Given the description of an element on the screen output the (x, y) to click on. 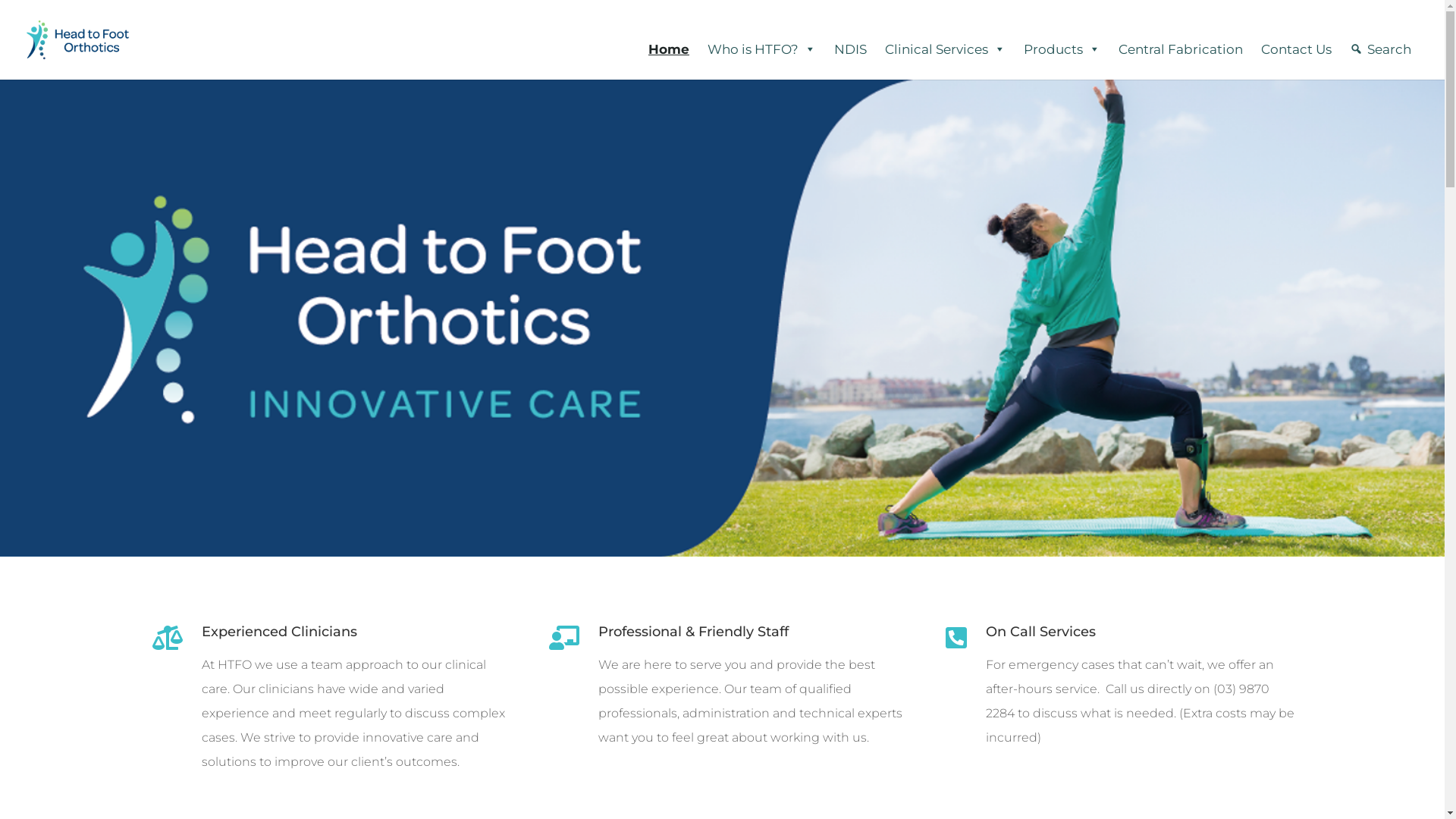
Central Fabrication Element type: text (1180, 49)
Who is HTFO? Element type: text (761, 49)
Products Element type: text (1061, 49)
Home Element type: text (668, 49)
NDIS Element type: text (850, 49)
Clinical Services Element type: text (944, 49)
Head to Foot Orthotics - Innovative Care Element type: hover (722, 317)
Search Element type: text (1380, 49)
Contact Us Element type: text (1296, 49)
